Given the description of an element on the screen output the (x, y) to click on. 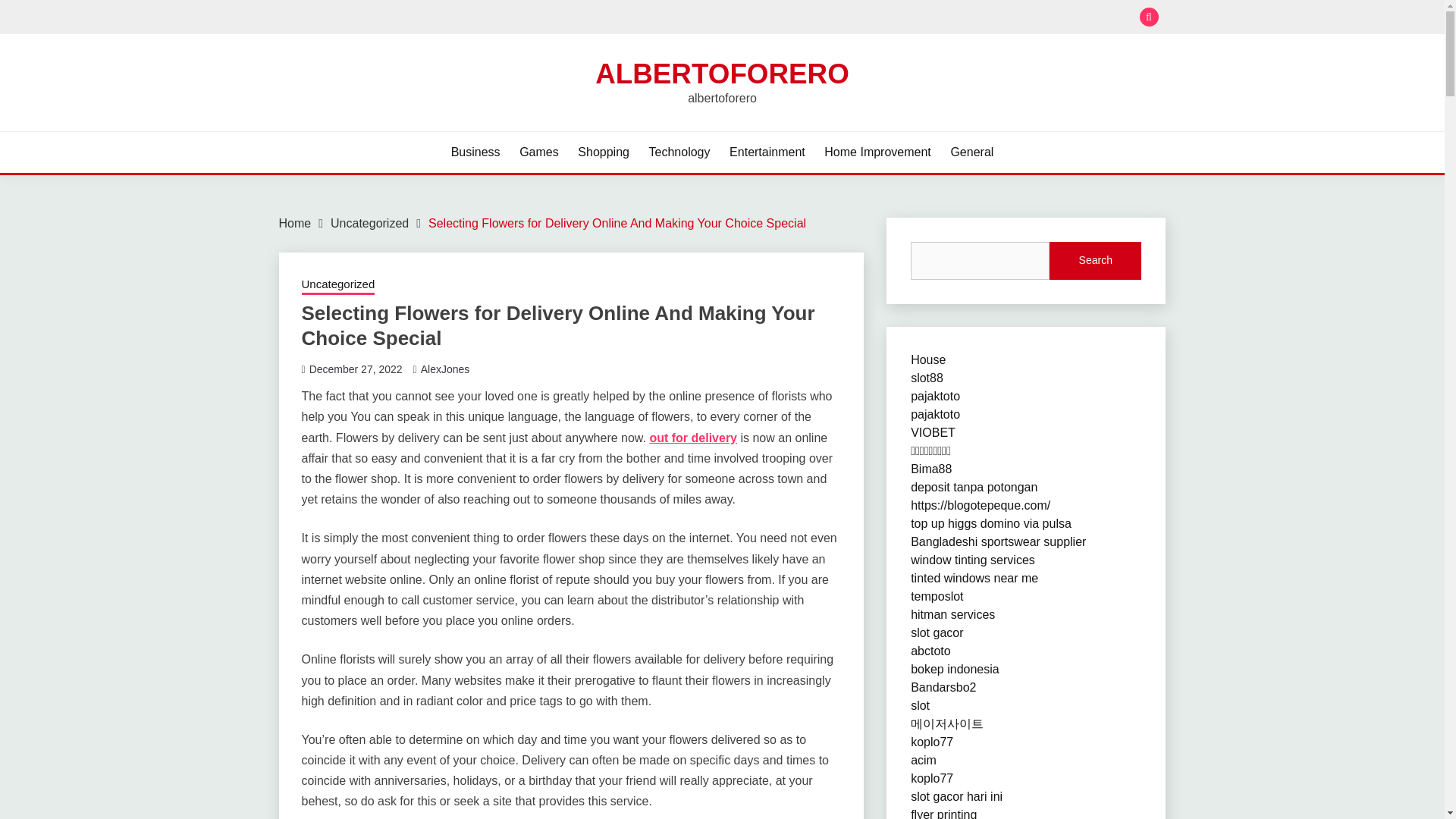
Technology (679, 152)
slot88 (927, 377)
General (971, 152)
ALBERTOFORERO (721, 73)
December 27, 2022 (355, 369)
pajaktoto (935, 395)
Business (475, 152)
Uncategorized (369, 223)
Games (539, 152)
